Given the description of an element on the screen output the (x, y) to click on. 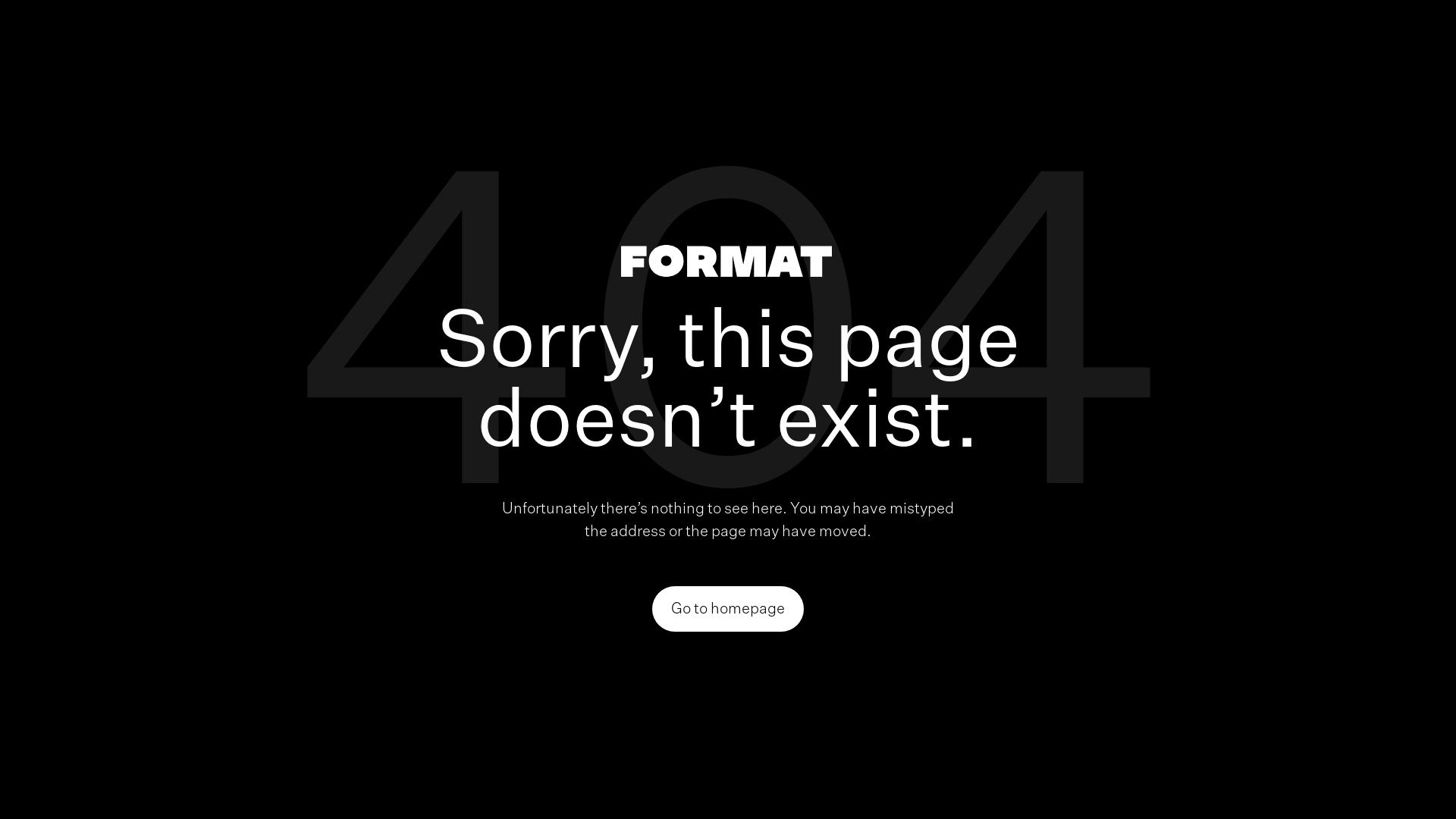
Go to homepage Element type: text (727, 608)
